Given the description of an element on the screen output the (x, y) to click on. 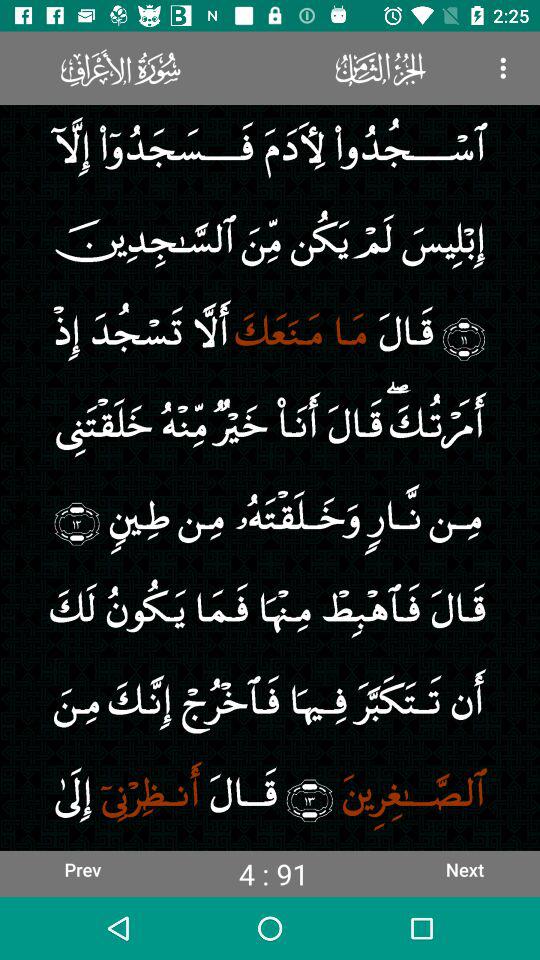
tap prev item (82, 869)
